Given the description of an element on the screen output the (x, y) to click on. 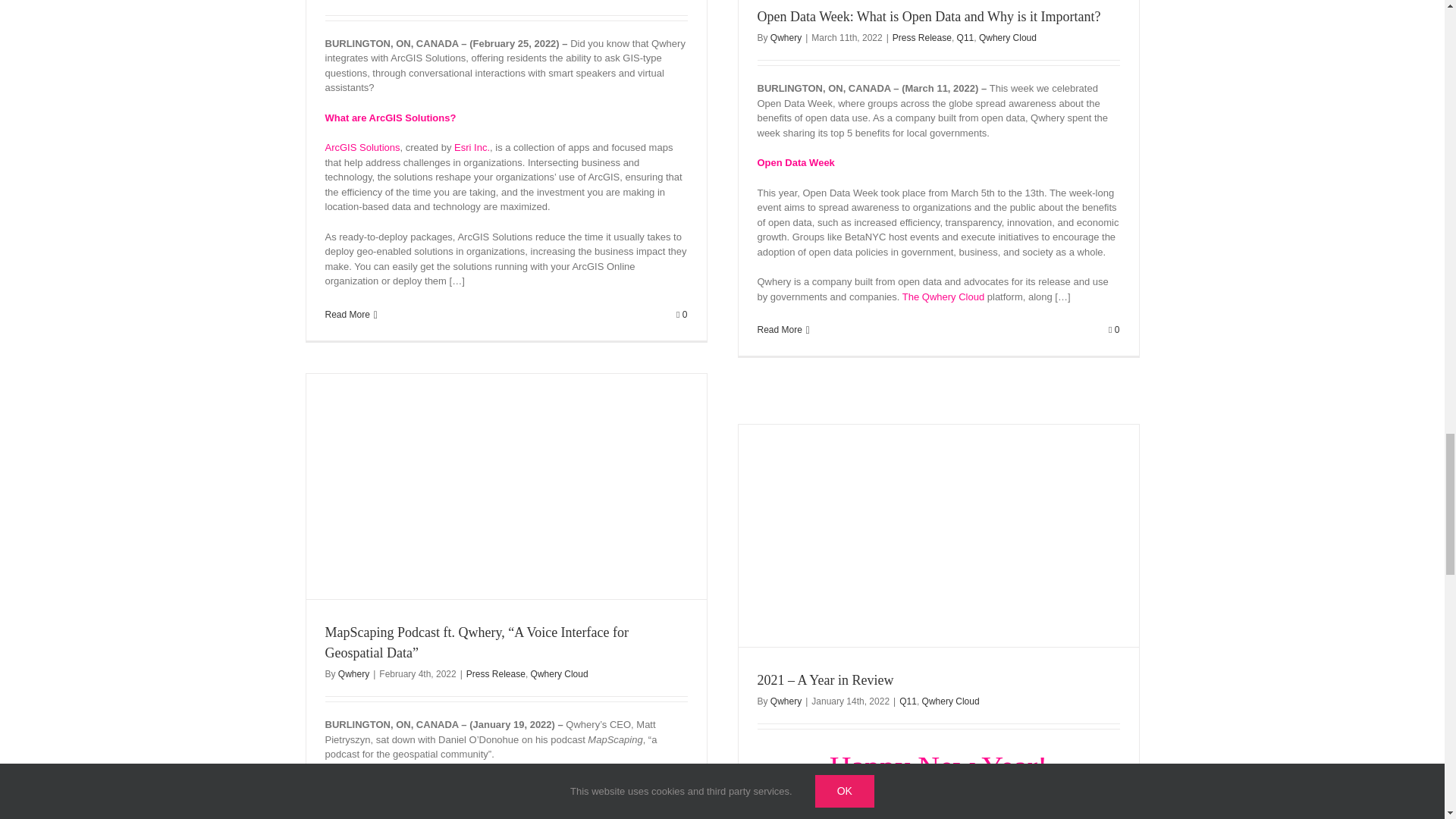
Posts by Qwhery (786, 37)
Posts by Qwhery (786, 701)
Posts by Qwhery (353, 674)
